Given the description of an element on the screen output the (x, y) to click on. 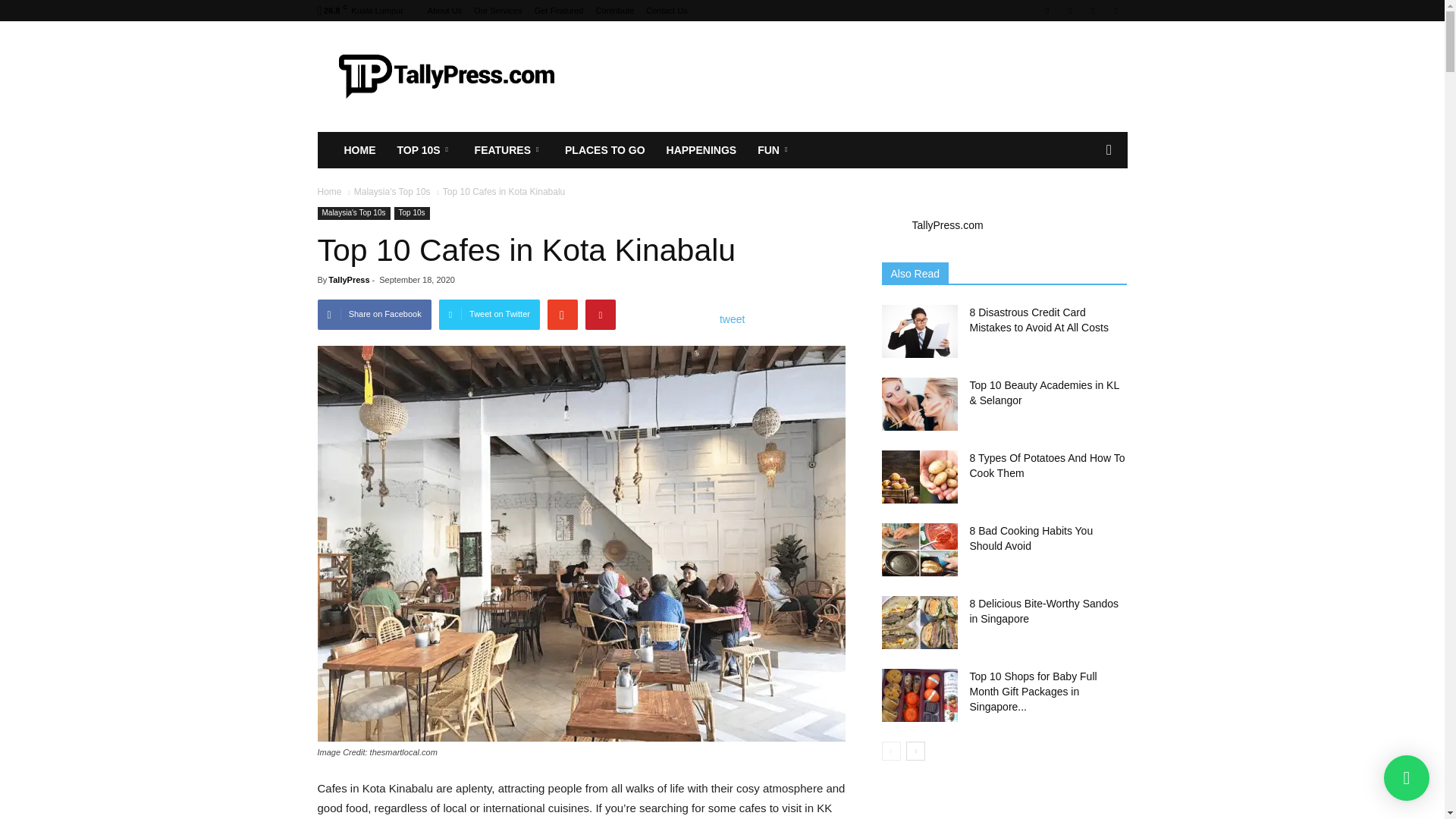
About Us (444, 10)
Contribute (614, 10)
Our Services (498, 10)
TOP 10S (425, 149)
HOME (360, 149)
Get Featured (558, 10)
Instagram (1069, 10)
Twitter (1114, 10)
Linkedin (1092, 10)
